Given the description of an element on the screen output the (x, y) to click on. 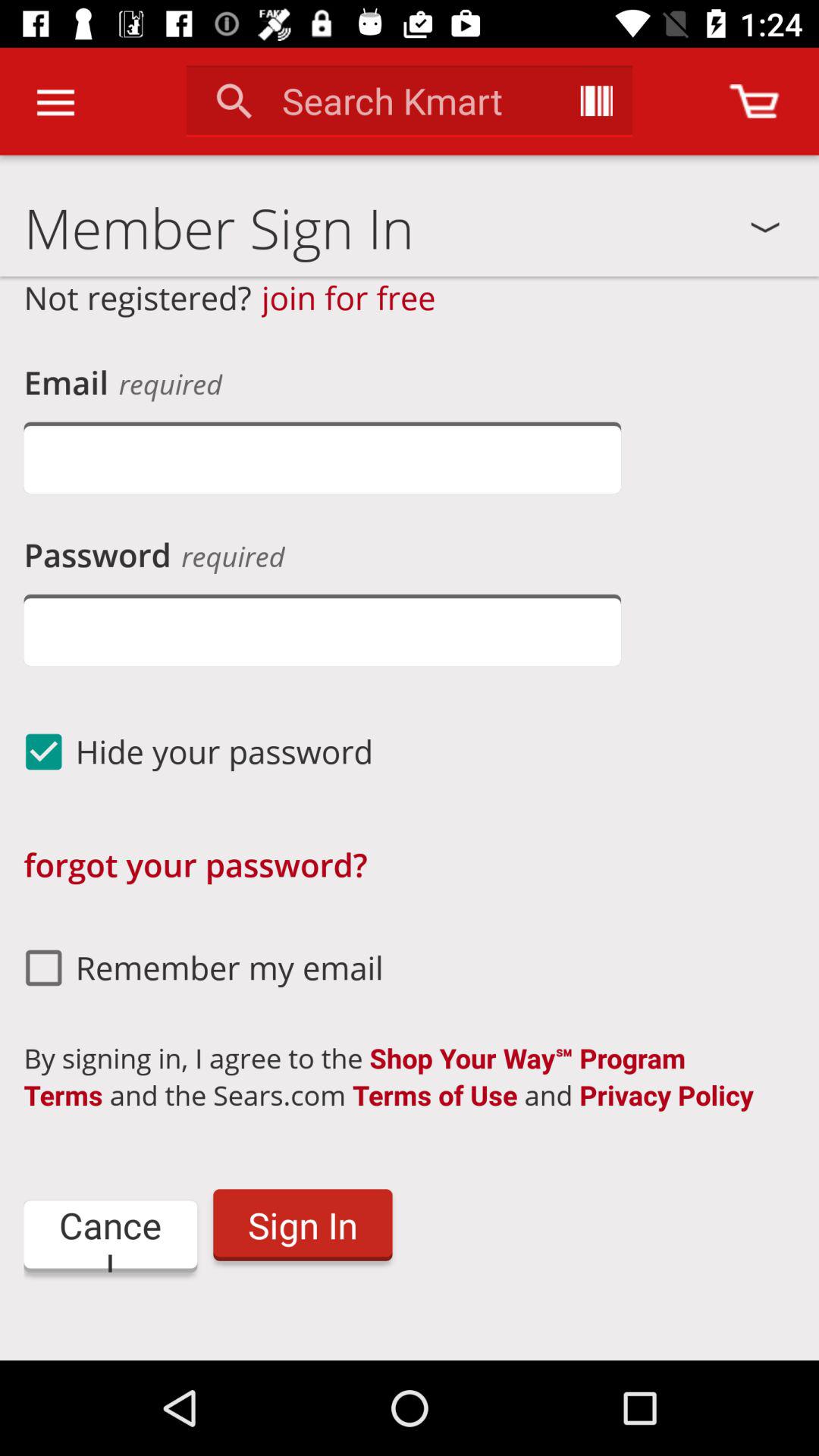
launch remember my email icon (197, 967)
